Given the description of an element on the screen output the (x, y) to click on. 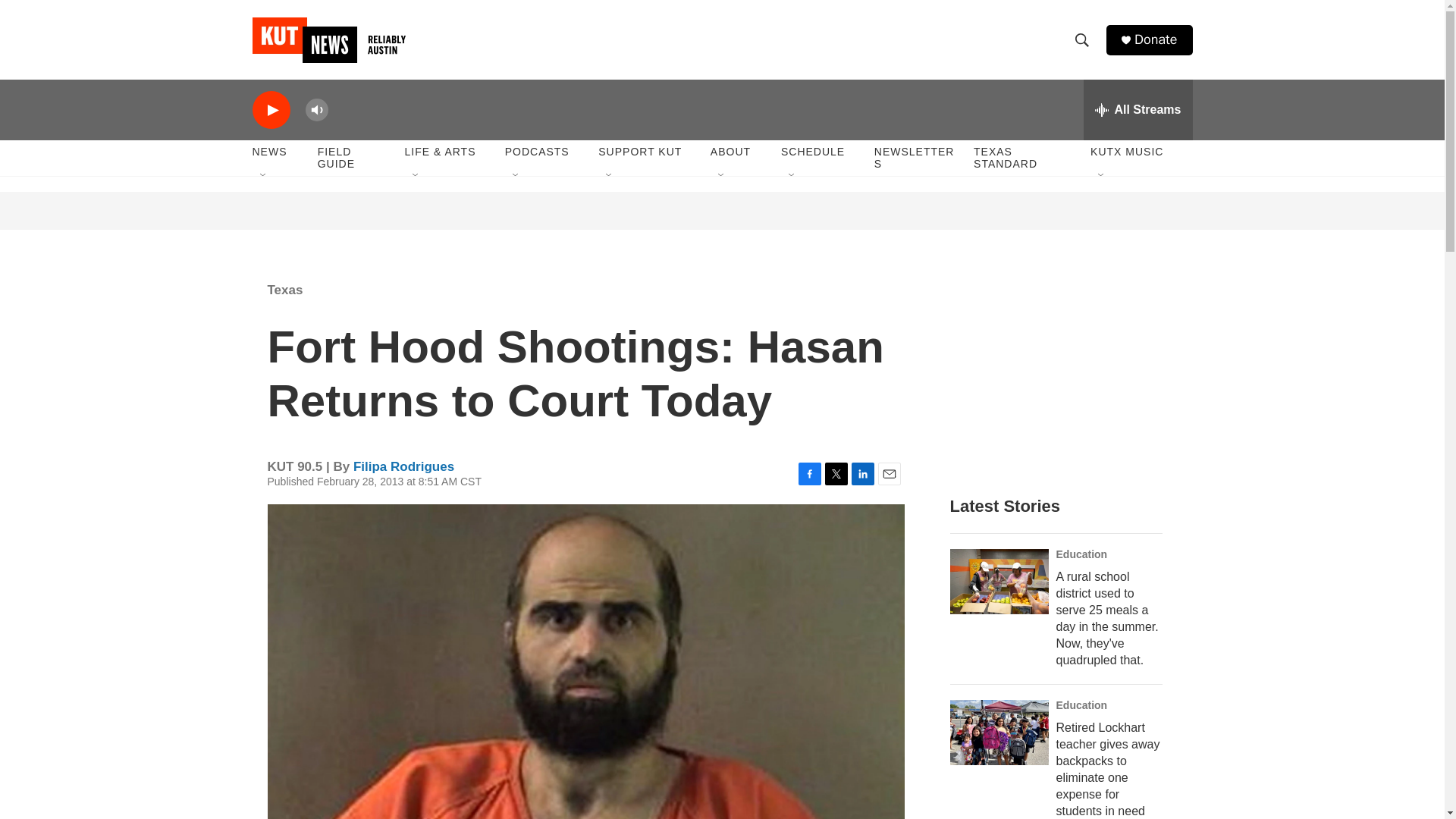
3rd party ad content (365, 370)
3rd party ad content (367, 210)
